Given the description of an element on the screen output the (x, y) to click on. 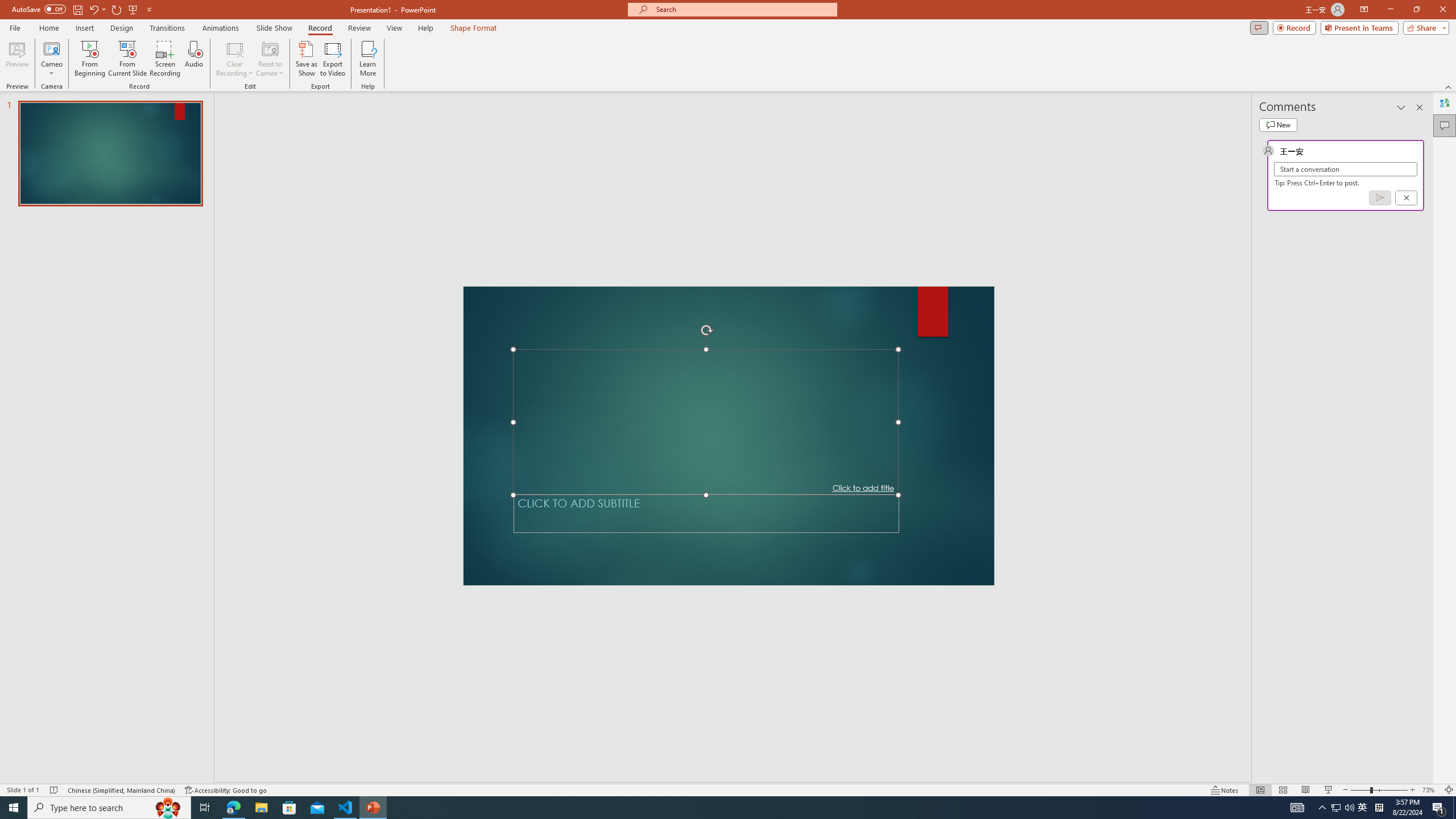
Cancel (1405, 197)
Subtitle TextBox (706, 513)
From Beginning... (89, 58)
Preview (17, 58)
